Given the description of an element on the screen output the (x, y) to click on. 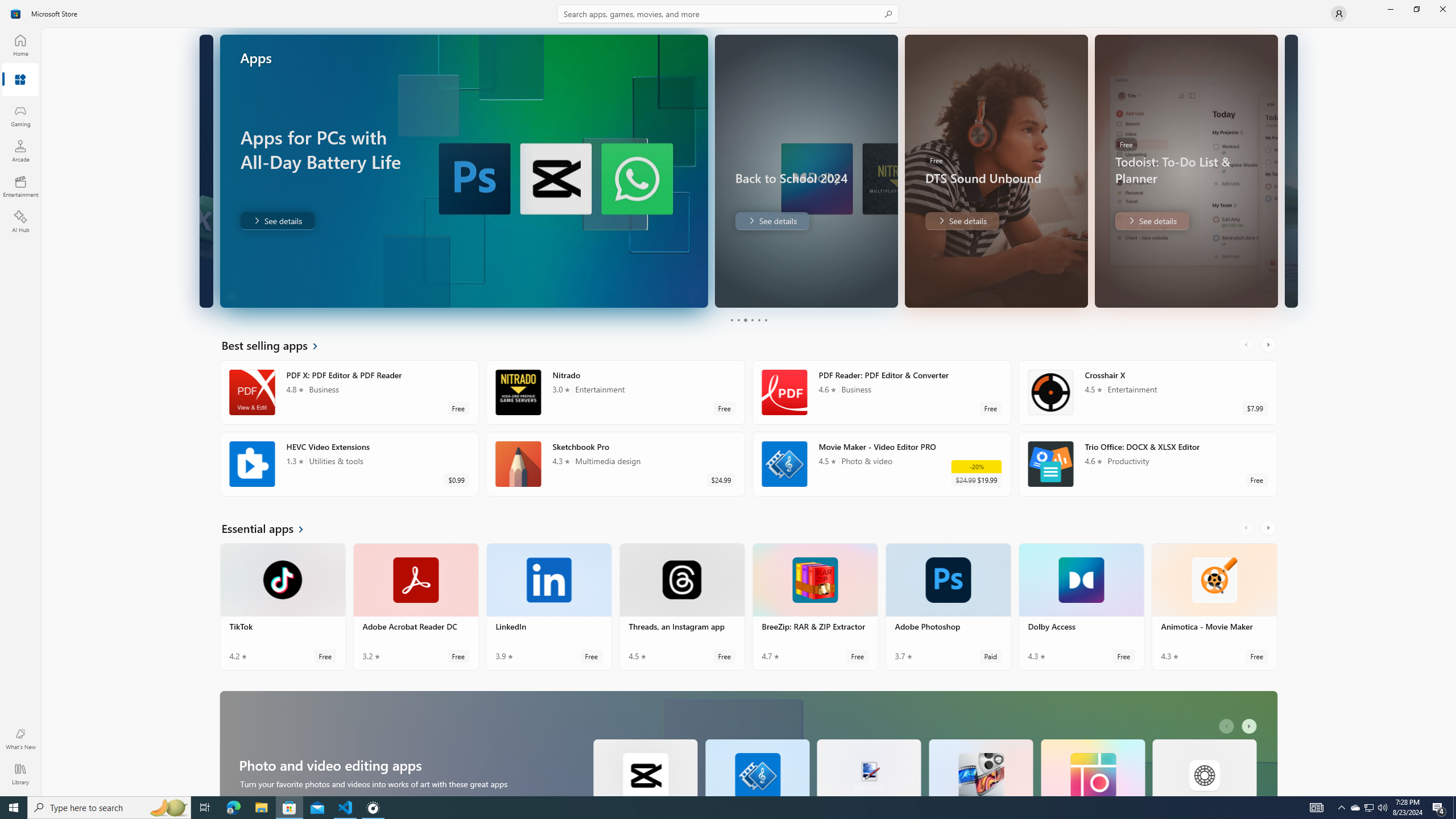
Search (727, 13)
AutomationID: Image (1290, 170)
See all  Best selling apps (276, 345)
DTS Sound Unbound. Save 30% now. Free . See details (961, 221)
